Given the description of an element on the screen output the (x, y) to click on. 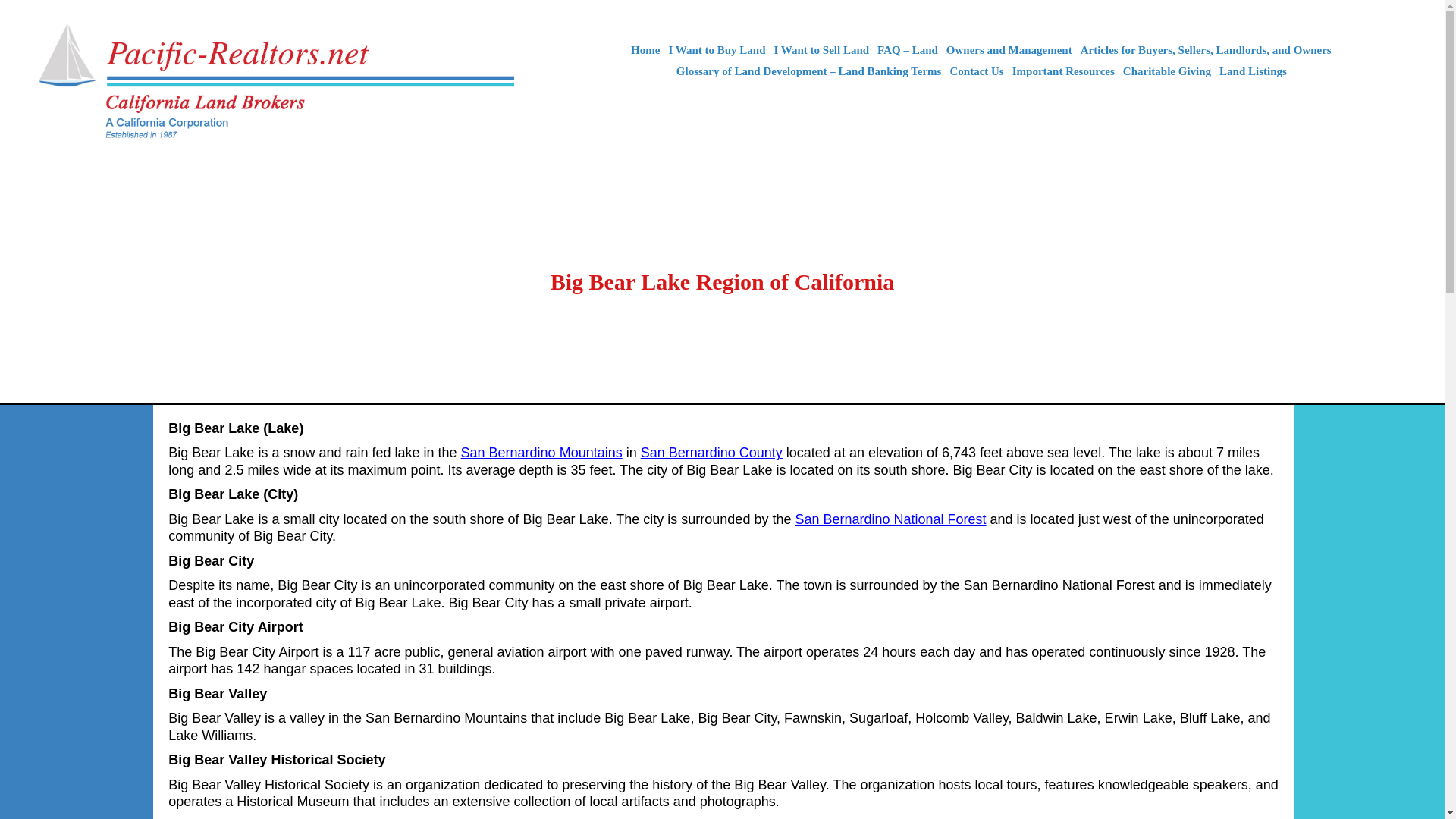
Contact Us (975, 71)
I Want to Sell Land (821, 50)
Important Resources (1063, 71)
San Bernardino Mountains (542, 452)
Land Listings (1252, 71)
San Bernardino National Forest (889, 519)
I Want to Buy Land (715, 50)
Charitable Giving (1166, 71)
Articles for Buyers, Sellers, Landlords, and Owners (1206, 50)
Home (645, 50)
San Bernardino County (711, 452)
PacificRealtors-Land-Brokers-Logo-revised (271, 82)
Owners and Management (1008, 50)
